Given the description of an element on the screen output the (x, y) to click on. 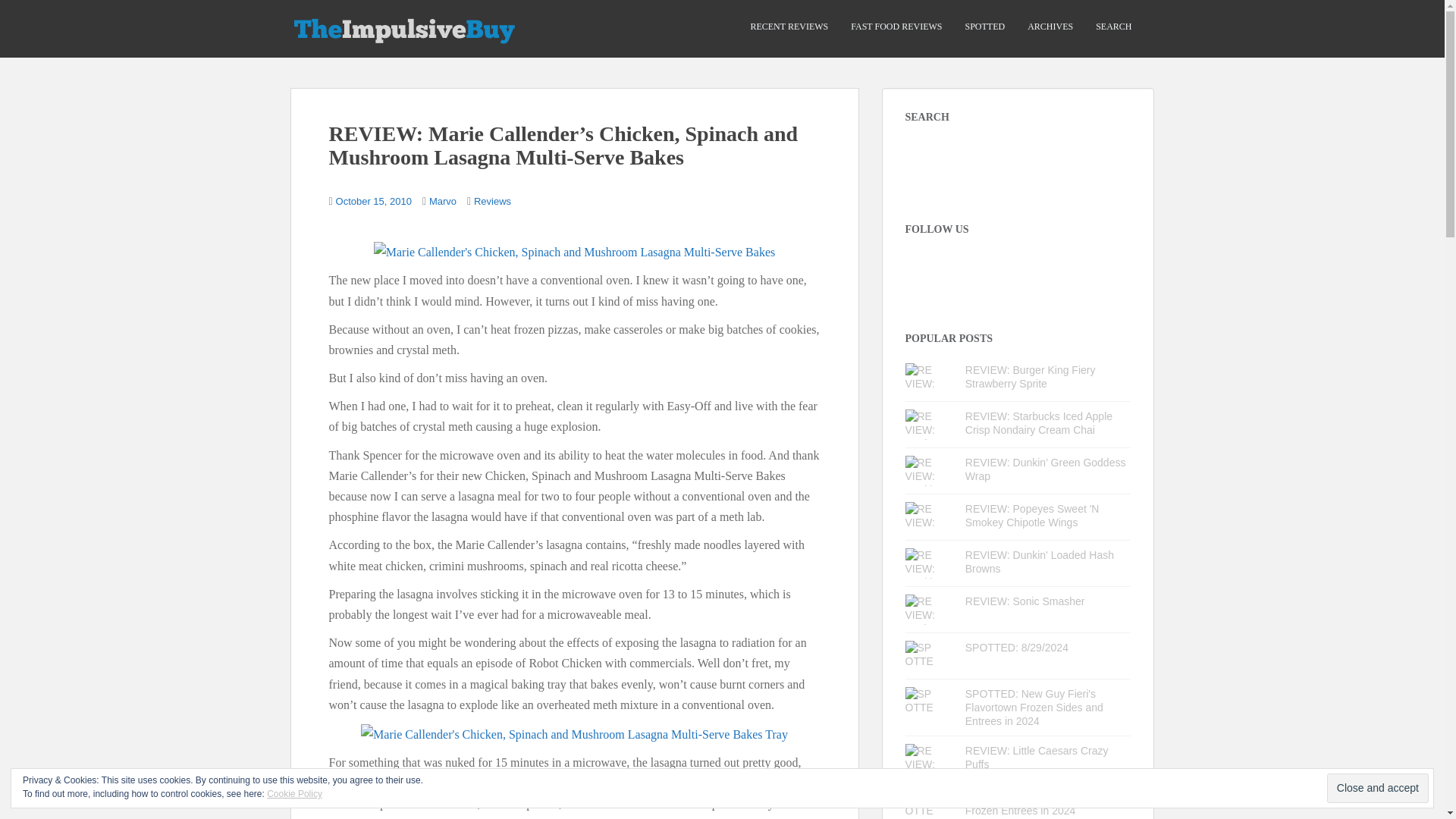
Close and accept (1377, 788)
RECENT REVIEWS (788, 26)
ARCHIVES (1050, 26)
October 15, 2010 (374, 201)
Reviews (492, 201)
Marvo (443, 201)
SEARCH (1113, 26)
FAST FOOD REVIEWS (896, 26)
